Given the description of an element on the screen output the (x, y) to click on. 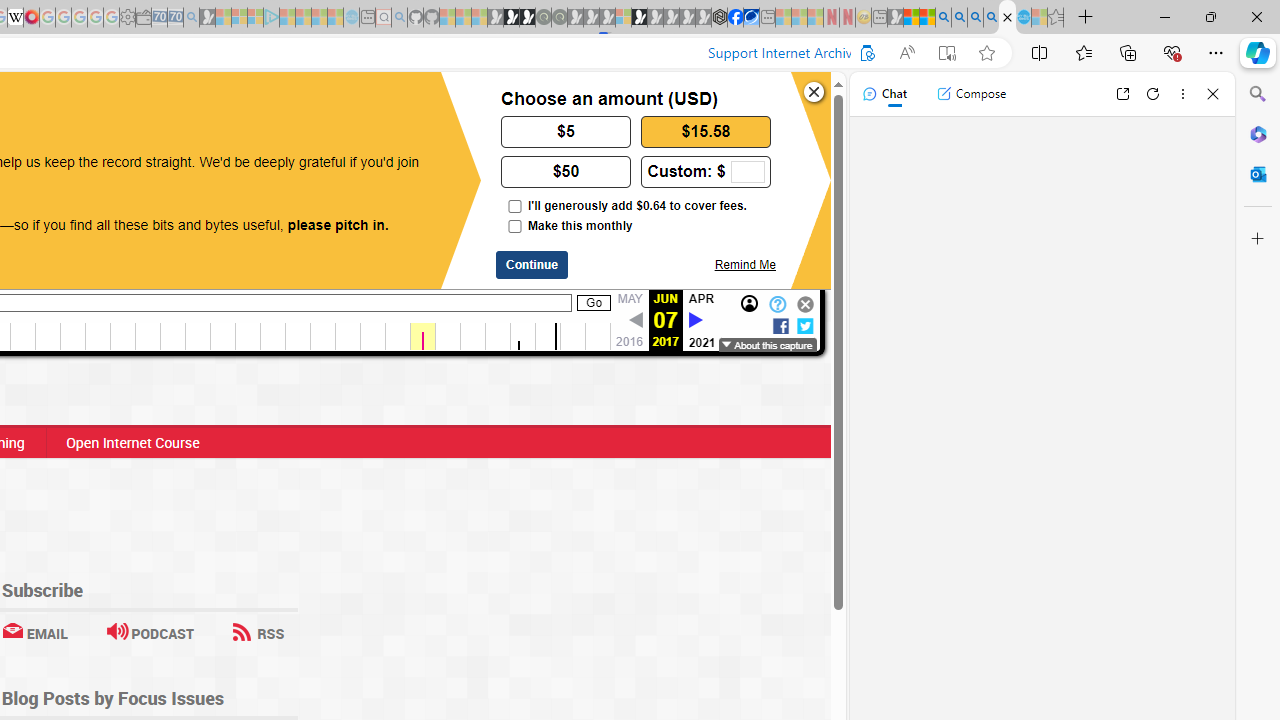
AirNow.gov (751, 17)
Chat (884, 93)
PODCAST (150, 632)
DONATE (178, 108)
MSN - Sleeping (895, 17)
ACT NOW (97, 108)
EMAIL (34, 632)
Next capture (695, 319)
